Given the description of an element on the screen output the (x, y) to click on. 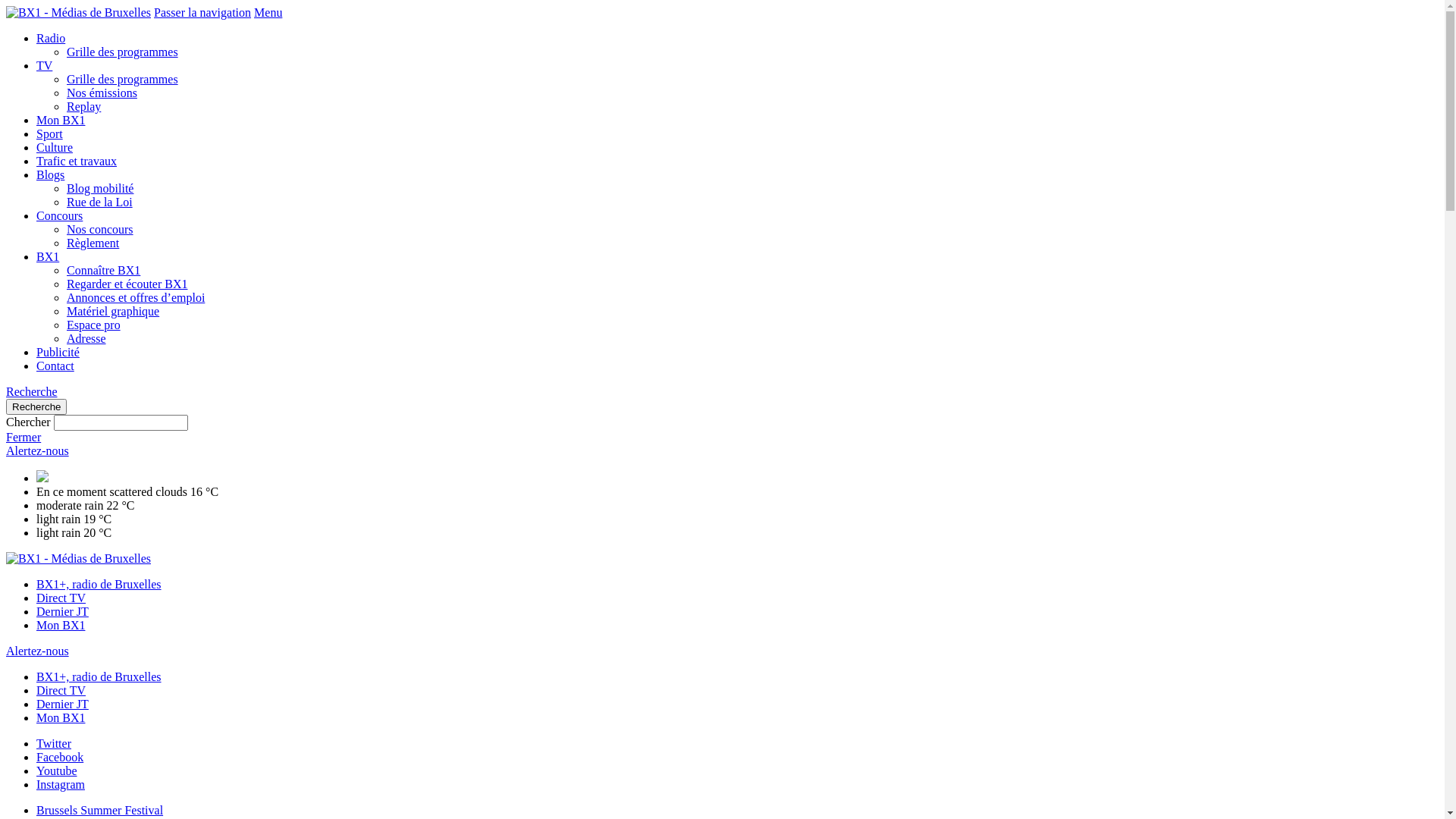
Rue de la Loi Element type: text (99, 201)
Fermer Element type: text (23, 436)
Mon BX1 Element type: text (60, 119)
Twitter Element type: text (53, 743)
Instagram Element type: text (60, 784)
Mon BX1 Element type: text (60, 624)
Contact Element type: text (55, 365)
Recherche Element type: text (31, 391)
Trafic et travaux Element type: text (76, 160)
Passer la navigation Element type: text (202, 12)
Sport Element type: text (49, 133)
Radio Element type: text (50, 37)
BX1+, radio de Bruxelles Element type: text (98, 676)
Brussels Summer Festival Element type: text (99, 809)
Direct TV Element type: text (60, 690)
Direct TV Element type: text (60, 597)
Grille des programmes Element type: text (122, 78)
Culture Element type: text (54, 147)
Recherche Element type: text (36, 406)
Dernier JT Element type: text (62, 703)
Dernier JT Element type: text (62, 611)
Adresse Element type: text (86, 338)
Facebook Element type: text (59, 756)
TV Element type: text (44, 65)
Grille des programmes Element type: text (122, 51)
Mon BX1 Element type: text (60, 717)
BX1 Element type: text (47, 256)
BX1+, radio de Bruxelles Element type: text (98, 583)
Espace pro Element type: text (93, 324)
Concours Element type: text (59, 215)
Blogs Element type: text (50, 174)
Youtube Element type: text (56, 770)
Alertez-nous Element type: text (37, 450)
Rechercher les mots-clefs Element type: hover (120, 422)
Nos concours Element type: text (99, 228)
Replay Element type: text (83, 106)
Alertez-nous Element type: text (37, 650)
Menu Element type: text (268, 12)
